Given the description of an element on the screen output the (x, y) to click on. 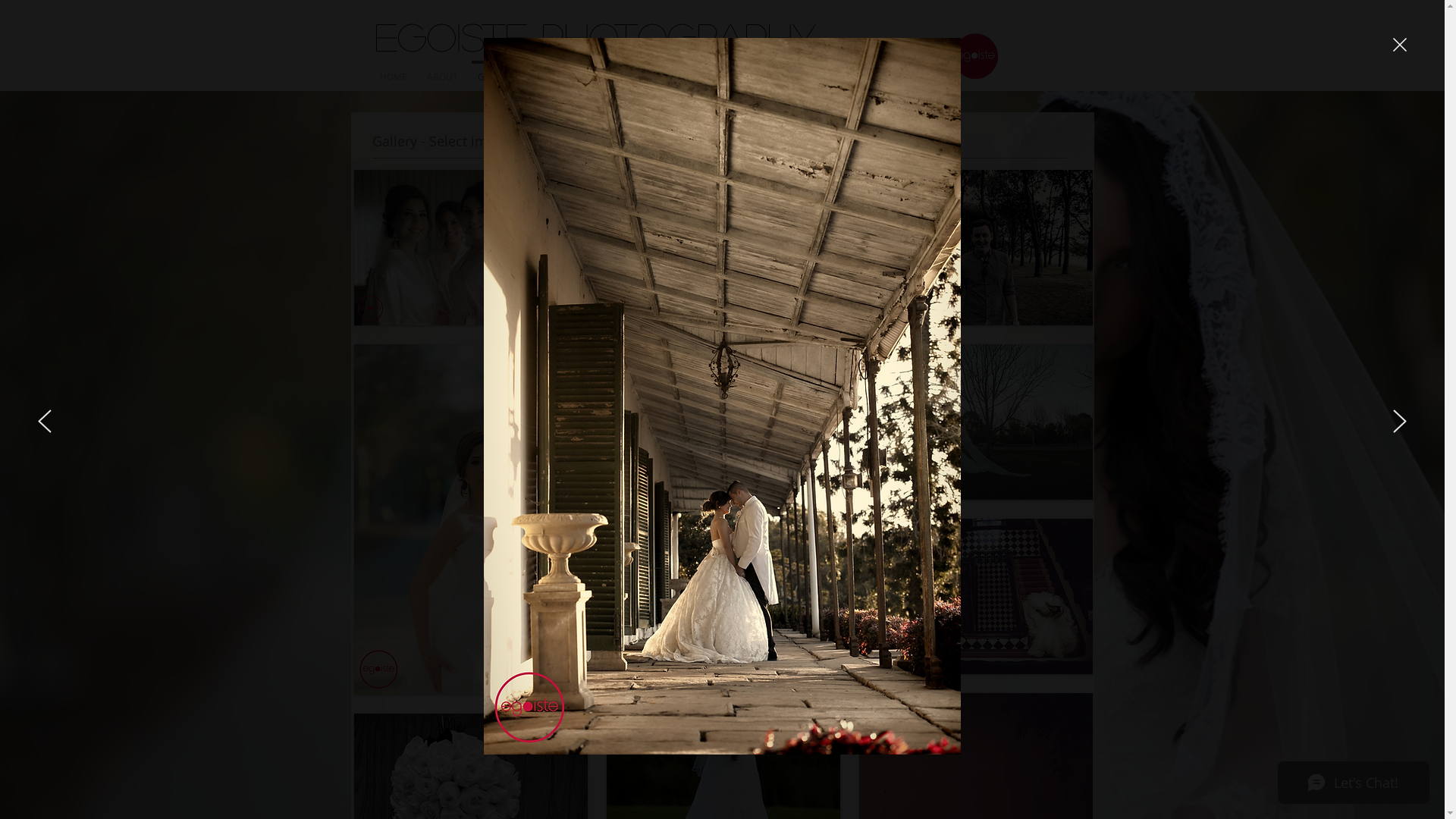
egoiste photography Element type: text (594, 35)
CONTACT Element type: text (852, 69)
BLOG Element type: text (631, 69)
INDUSTRY FOCUS Element type: text (701, 69)
HOT OFFERS Element type: text (785, 69)
FOR THE BRIDE Element type: text (566, 69)
GALLERY Element type: text (495, 69)
ABOUT Element type: text (442, 69)
Wedding Photography Sydney Element type: hover (974, 55)
HOME Element type: text (393, 69)
